Given the description of an element on the screen output the (x, y) to click on. 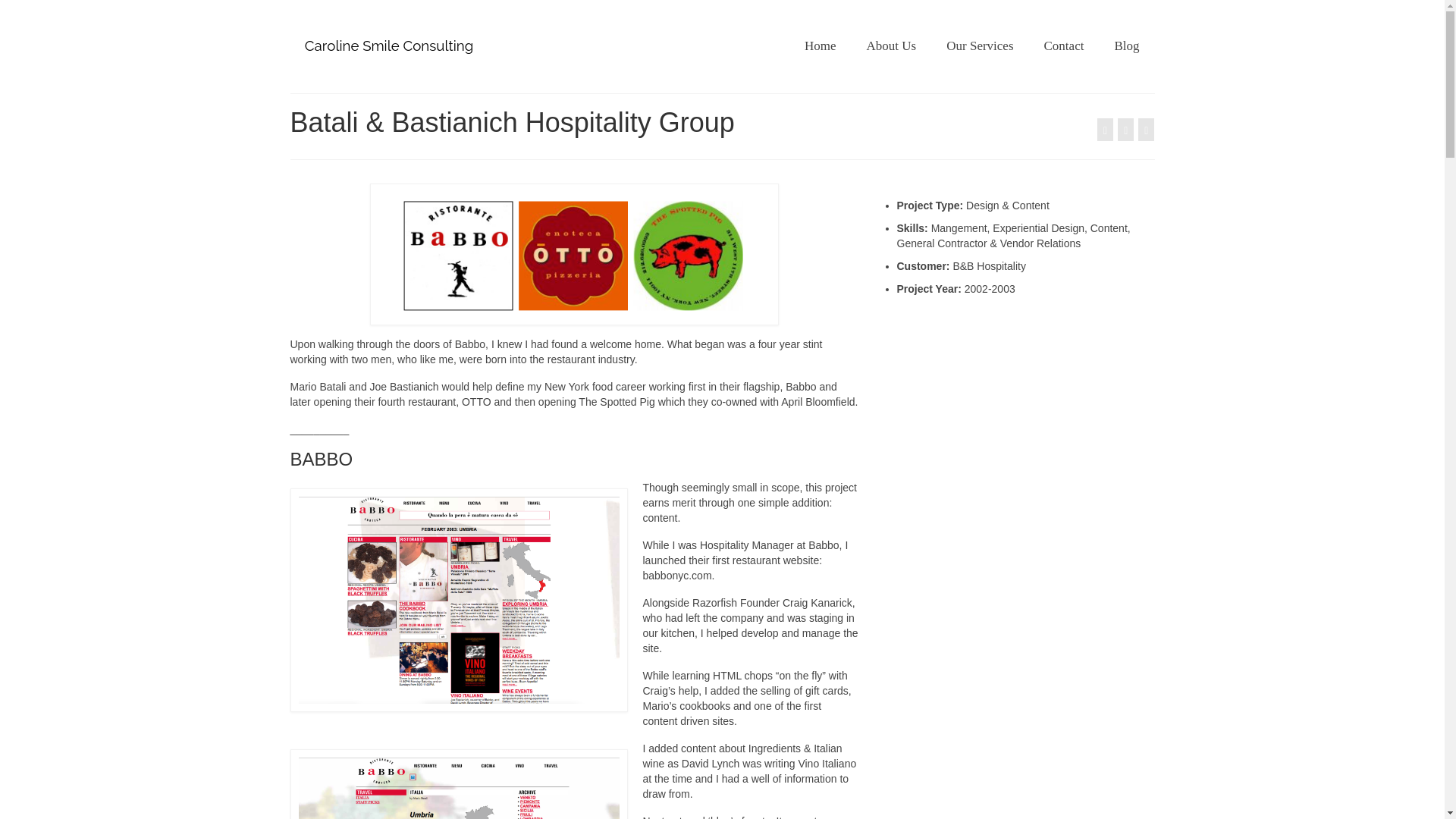
Home (820, 45)
Caroline Smile (428, 45)
Our Services (979, 45)
About Us (891, 45)
Contact (1064, 45)
Blog (1126, 45)
